Given the description of an element on the screen output the (x, y) to click on. 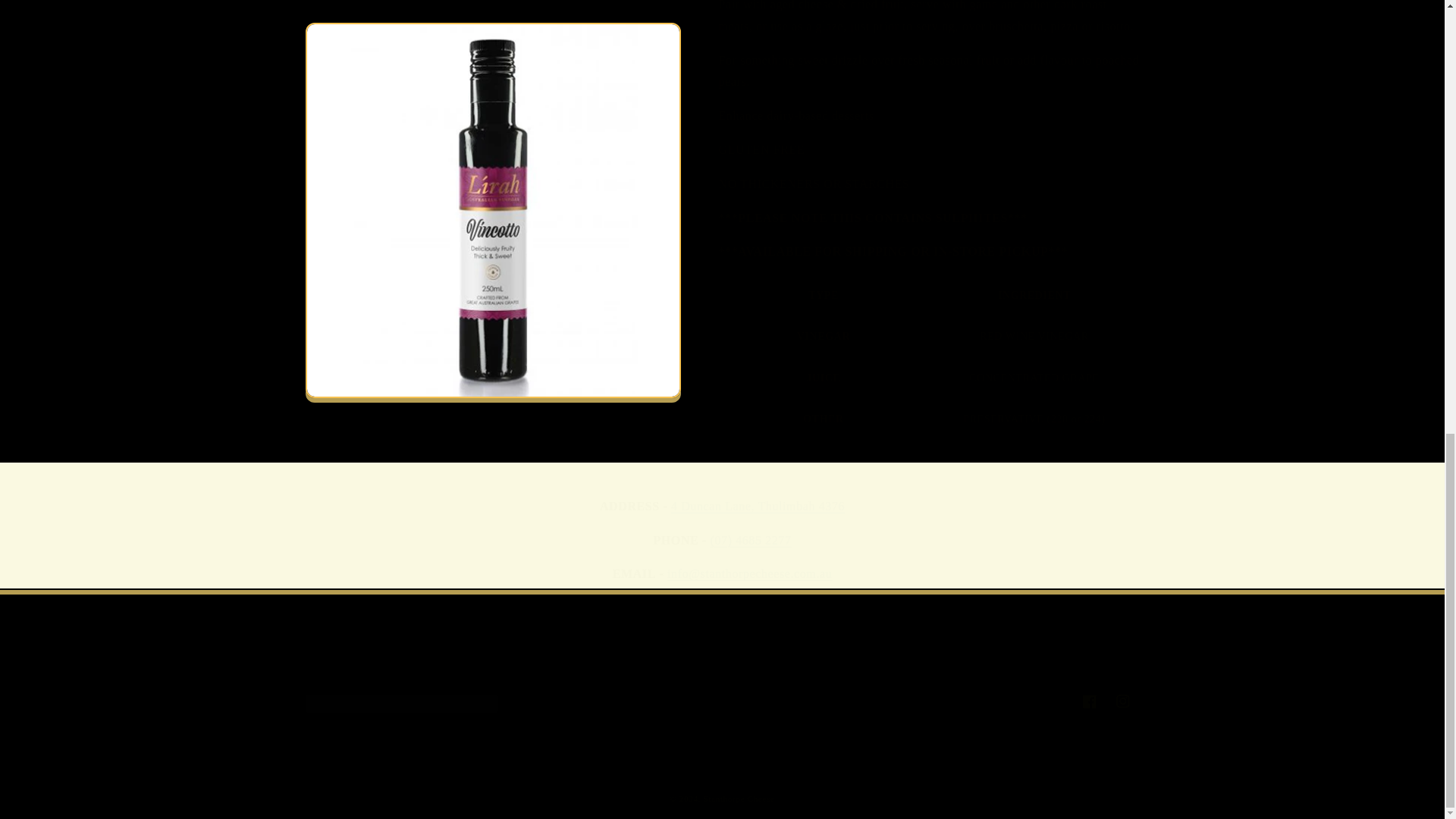
HOME ABOUT CHEESE JERSEY GIRL CAFE SHOP STOCKISTS CONTACT US (721, 663)
tel:0746852277 (721, 701)
HOME ABOUT CHEESE JERSEY GIRL CAFE SHOP STOCKISTS CONTACT US (750, 540)
